Given the description of an element on the screen output the (x, y) to click on. 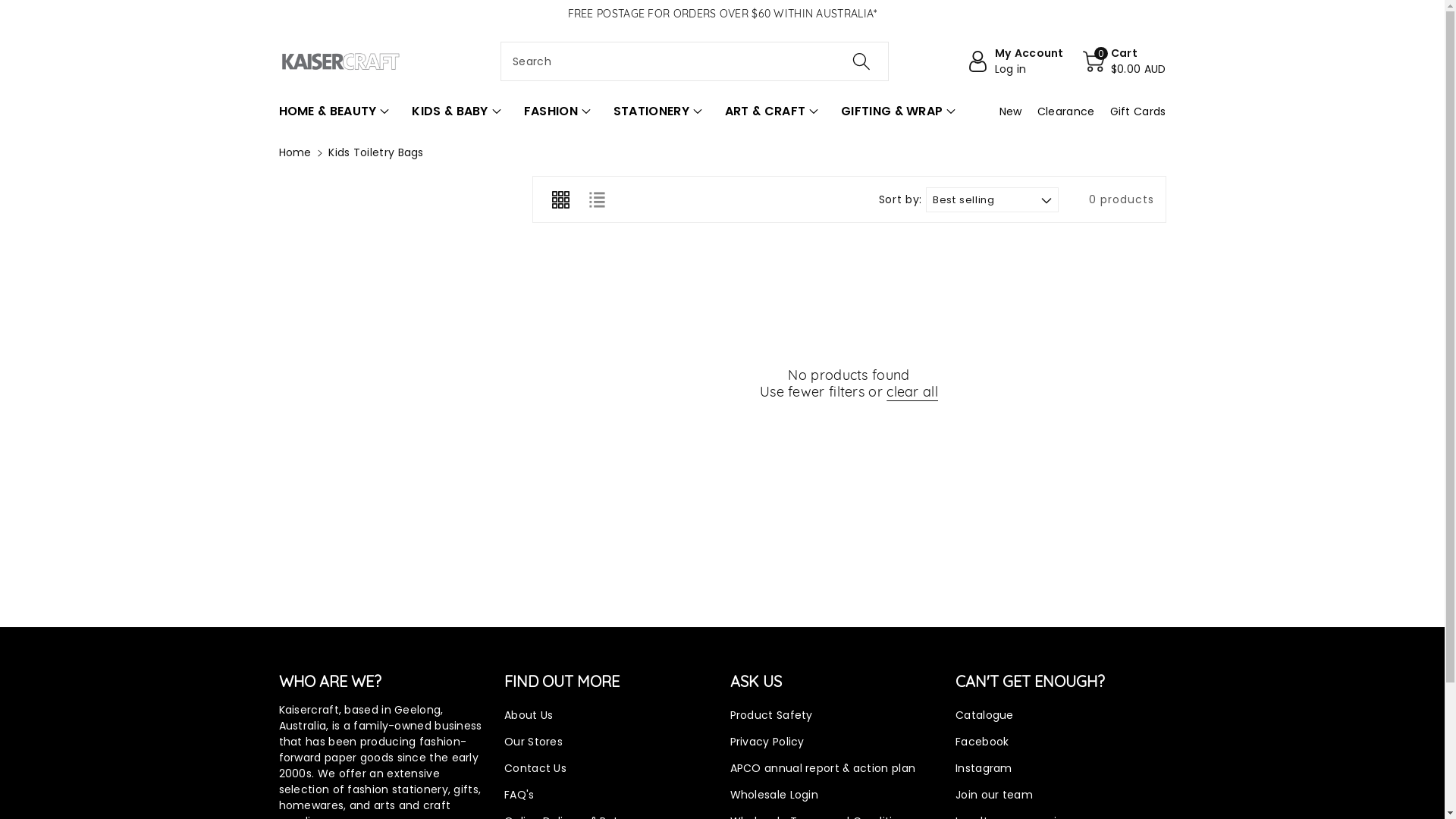
Home Element type: text (295, 152)
FAQ's Element type: text (519, 794)
Product Safety Element type: text (770, 714)
FIND OUT MORE Element type: text (561, 681)
Catalogue Element type: text (984, 714)
Instagram Element type: text (983, 767)
Facebook Element type: text (981, 741)
Privacy Policy Element type: text (766, 741)
Join our team Element type: text (993, 794)
My Account
Log in Element type: text (1014, 61)
ASK US Element type: text (755, 681)
Wholesale Login Element type: text (773, 794)
Gift Cards Element type: text (1138, 110)
FREE POSTAGE FOR ORDERS OVER $60 WITHIN AUSTRALIA* Element type: text (721, 13)
APCO annual report & action plan Element type: text (822, 767)
About Us Element type: text (528, 714)
WHO ARE WE? Element type: text (330, 681)
clear all Element type: text (912, 391)
CAN'T GET ENOUGH? Element type: text (1029, 681)
Clearance Element type: text (1066, 110)
Contact Us Element type: text (535, 767)
Our Stores Element type: text (533, 741)
0
Cart
$0.00 AUD Element type: text (1124, 61)
New Element type: text (1010, 110)
